Given the description of an element on the screen output the (x, y) to click on. 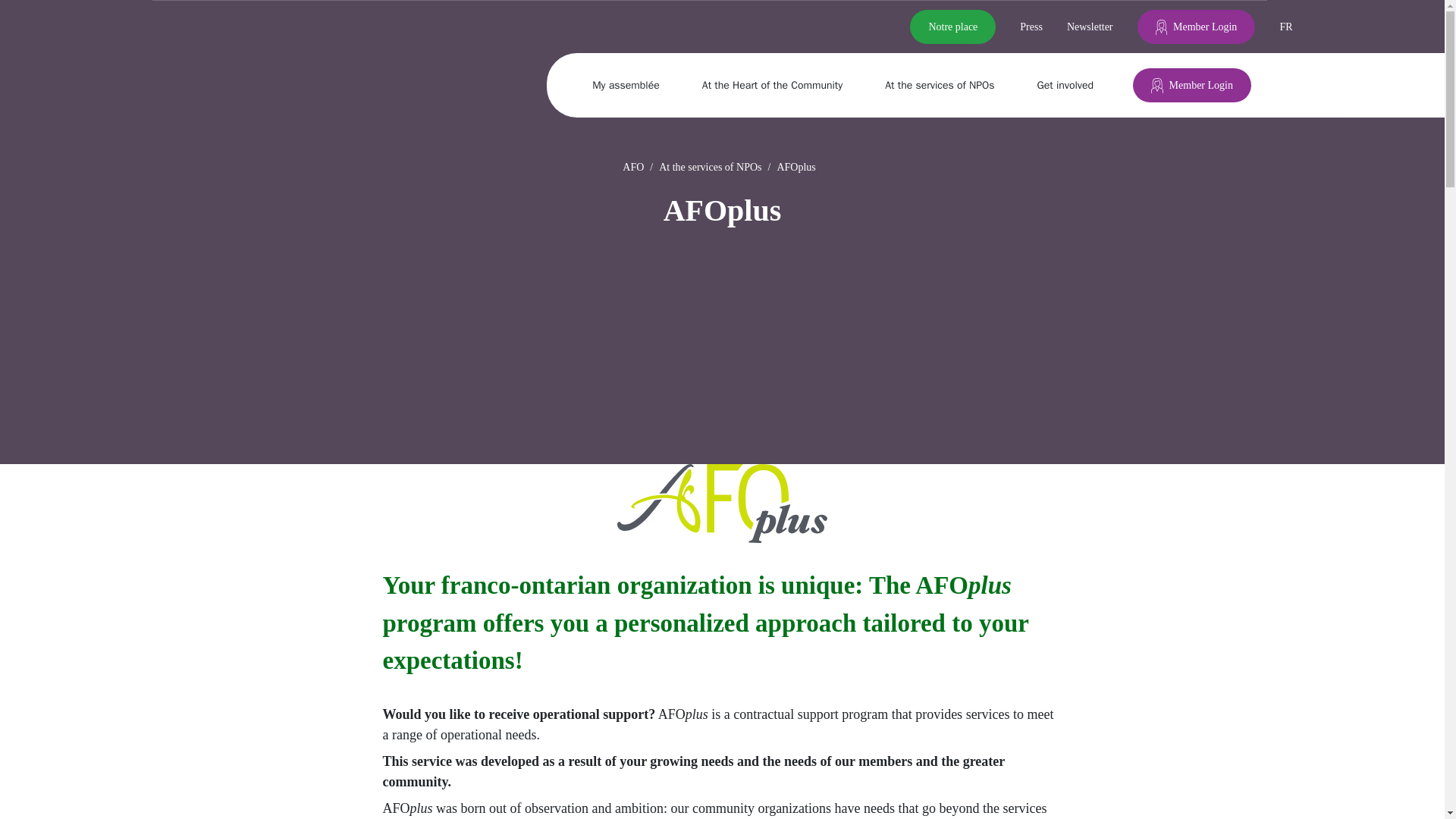
Newsletter (1090, 26)
FR (1285, 26)
Get involved (1071, 85)
Notre place (952, 26)
Press (1031, 26)
Member Login (1191, 84)
Member Login (1196, 26)
At the services of NPOs (945, 85)
At the Heart of the Community (778, 85)
